Given the description of an element on the screen output the (x, y) to click on. 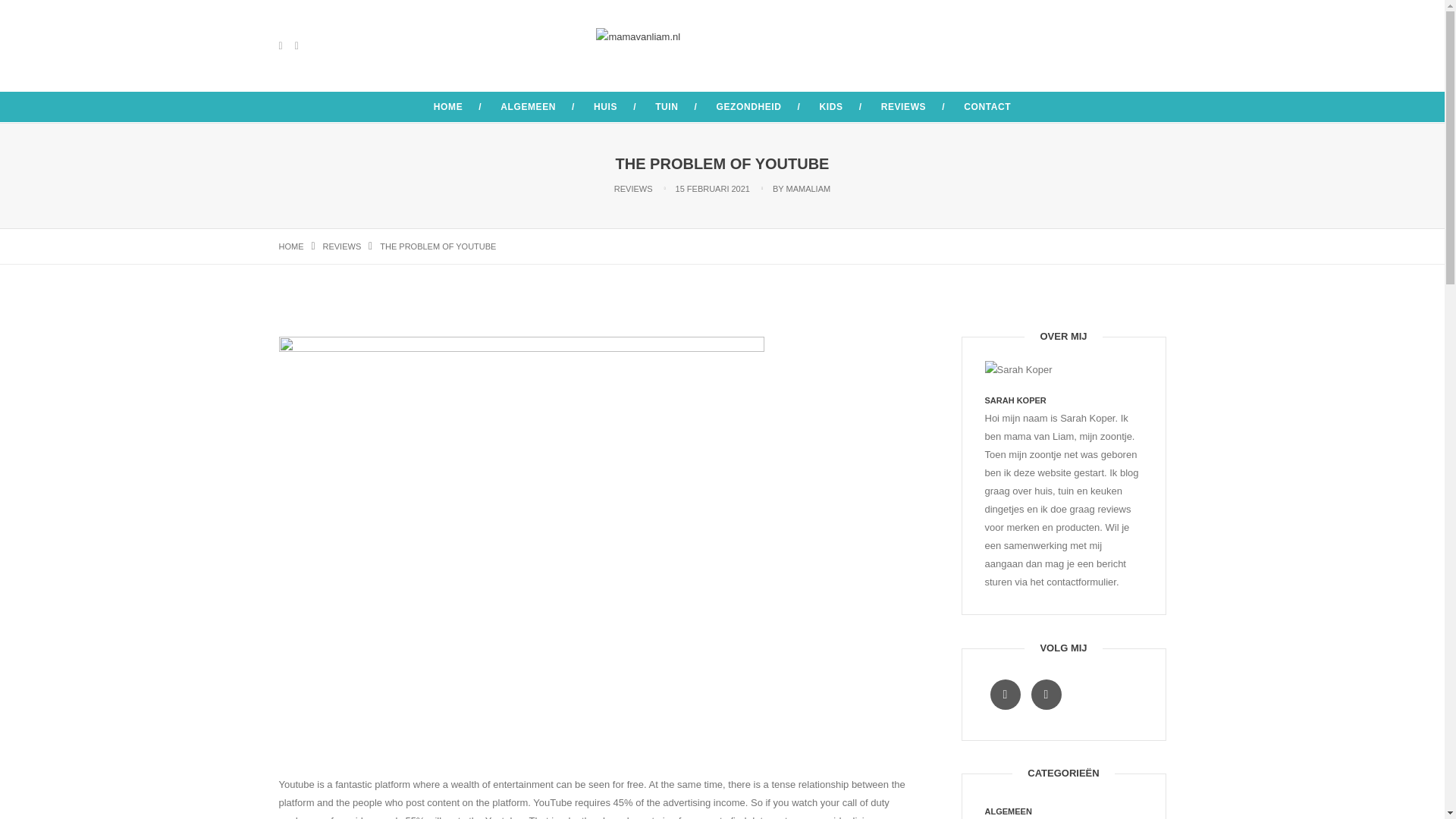
REVIEWS (902, 106)
HOME (447, 106)
CONTACT (986, 106)
KIDS (830, 106)
ALGEMEEN (1007, 810)
GEZONDHEID (748, 106)
Browse to: Home (291, 245)
HUIS (605, 106)
ALGEMEEN (528, 106)
REVIEWS (342, 245)
